Given the description of an element on the screen output the (x, y) to click on. 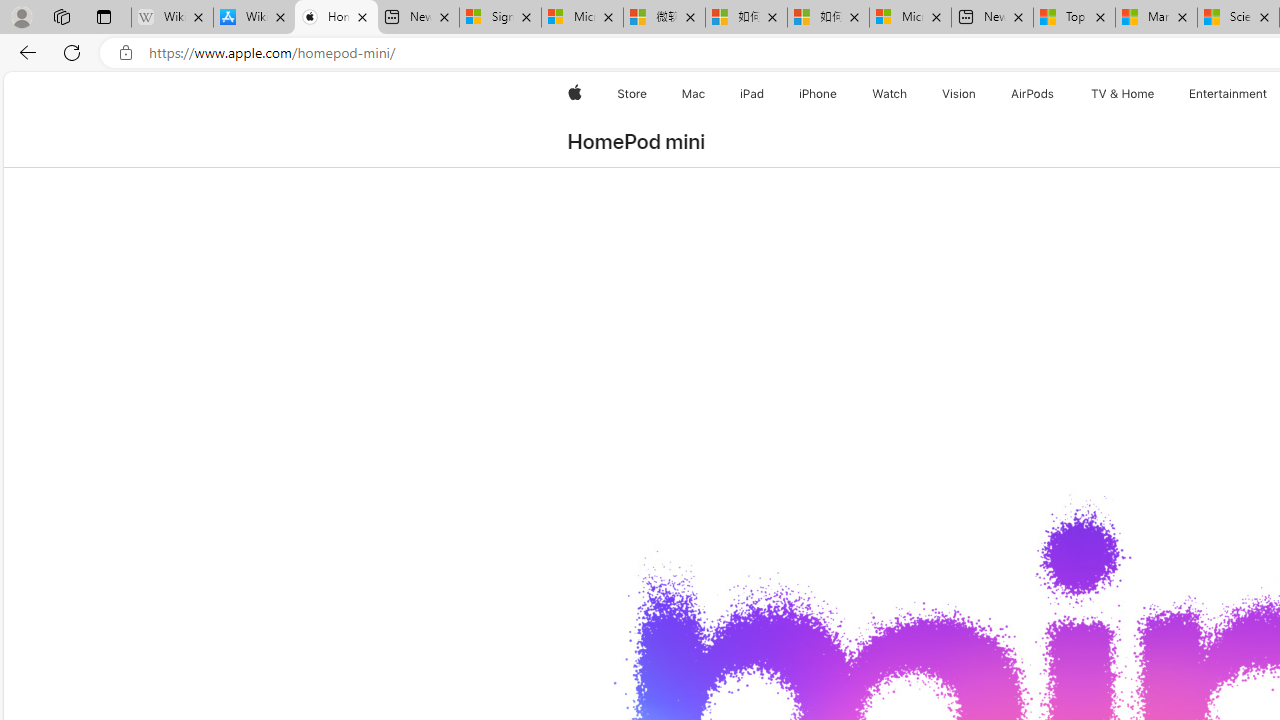
Vision (959, 93)
AirPods (1032, 93)
Store (631, 93)
TV and Home (1122, 93)
Store (631, 93)
HomePod mini (636, 142)
Watch menu (910, 93)
Vision (959, 93)
Class: globalnav-submenu-trigger-item (1157, 93)
Apple (574, 93)
